Given the description of an element on the screen output the (x, y) to click on. 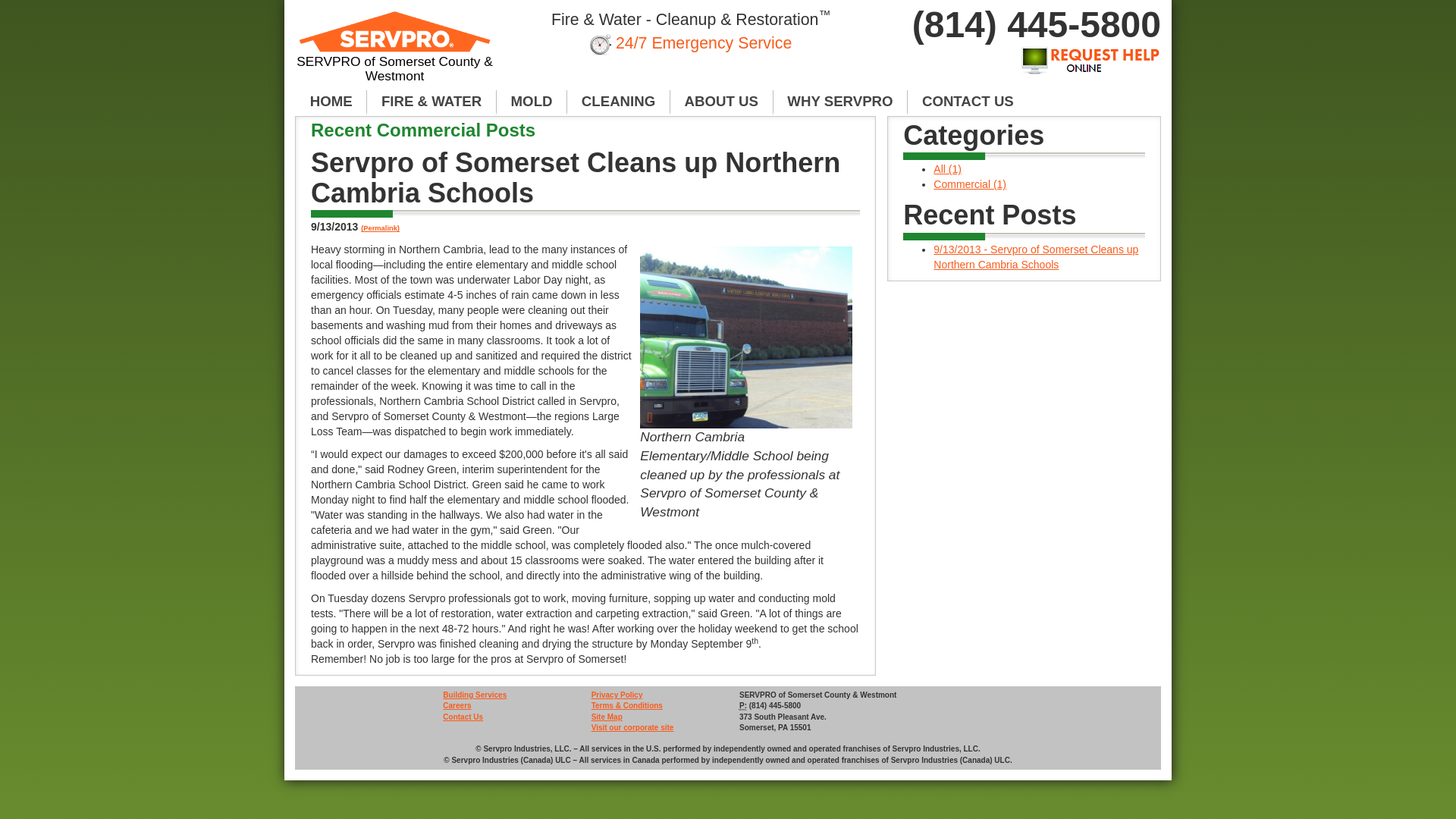
CLEANING (618, 102)
HOME (330, 102)
ABOUT US (721, 102)
MOLD (531, 102)
